Given the description of an element on the screen output the (x, y) to click on. 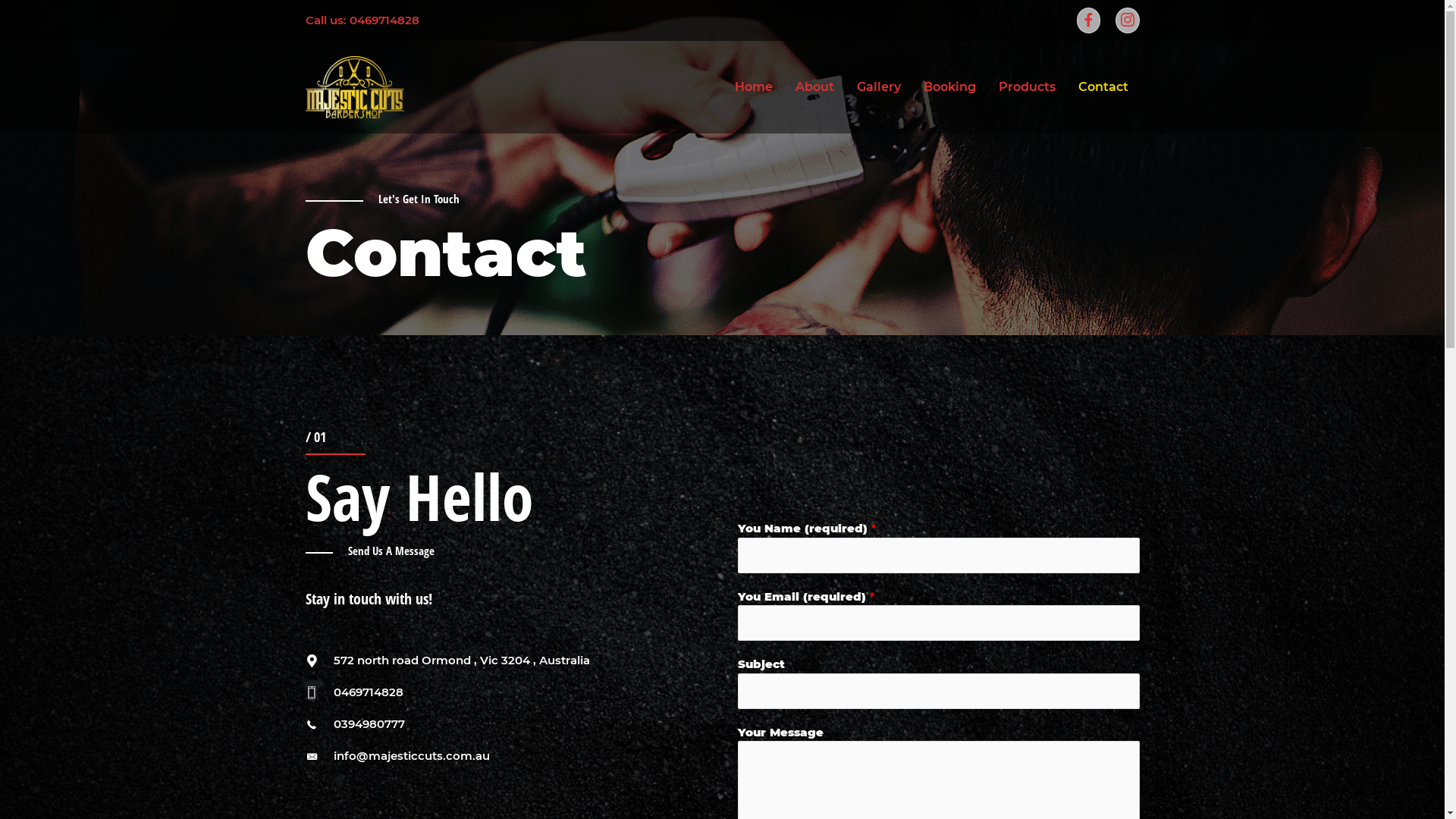
majestic-cuts-Logo Element type: hover (353, 87)
Booking Element type: text (949, 86)
Home Element type: text (753, 86)
Call us: 0469714828 Element type: text (361, 19)
Gallery Element type: text (878, 86)
About Element type: text (814, 86)
Contact Element type: text (1102, 86)
Products Element type: text (1027, 86)
